Given the description of an element on the screen output the (x, y) to click on. 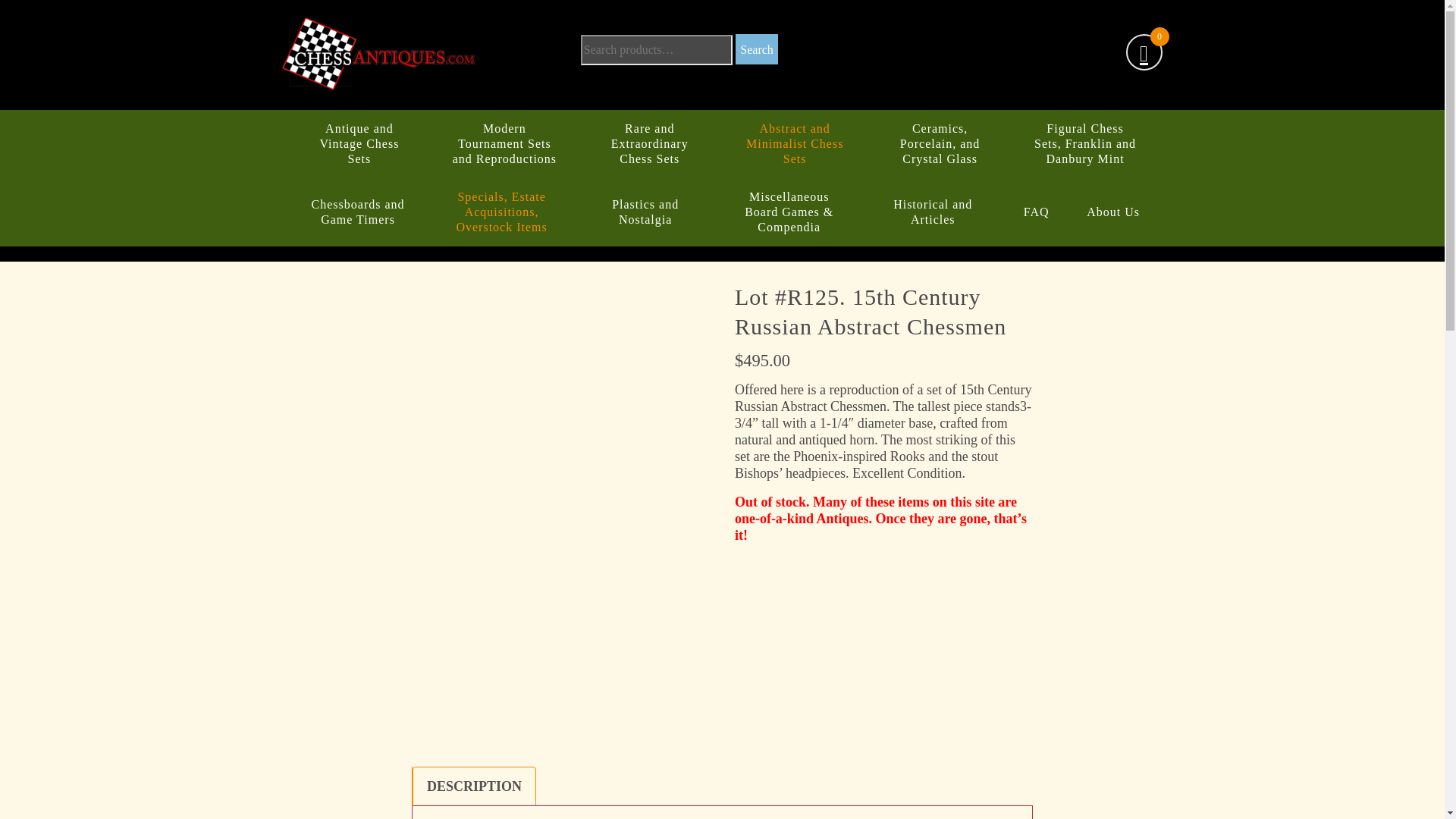
Search (756, 49)
About Us (1113, 212)
Specials, Estate Acquisitions, Overstock Items (502, 212)
15th Century Russian Abstract Chessmen (597, 604)
Modern Tournament Sets and Reproductions (504, 144)
0 (1143, 54)
15th Century Russian Abstract Chessmen (672, 689)
15th Century Russian Abstract Chessmen (523, 689)
15th Century Russian Abstract Chessmen (672, 604)
Medieval Style Abstract Chessmen (597, 689)
